Given the description of an element on the screen output the (x, y) to click on. 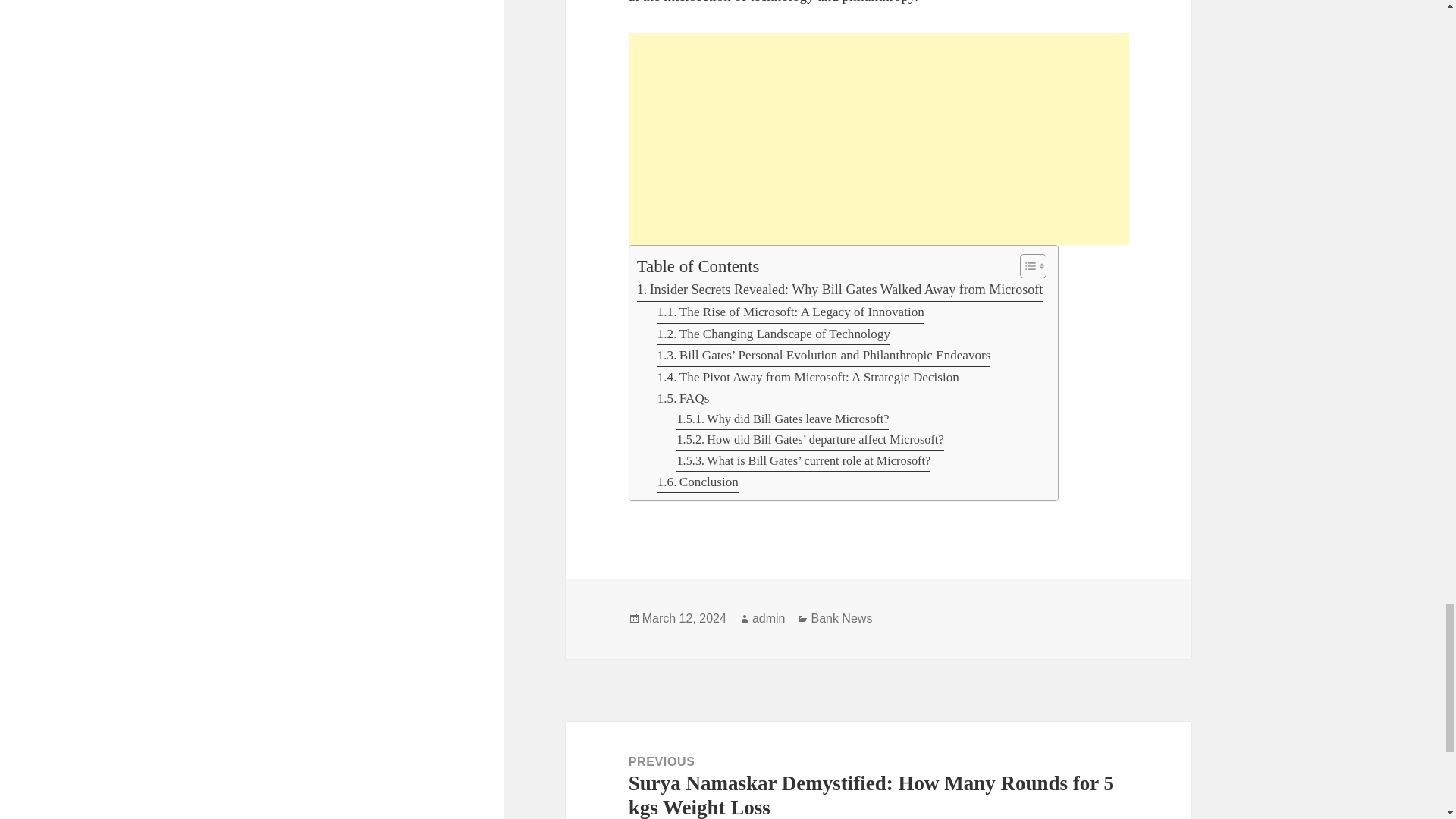
FAQs (684, 398)
admin (769, 618)
Conclusion (698, 482)
Why did Bill Gates leave Microsoft? (782, 419)
The Pivot Away from Microsoft: A Strategic Decision (808, 377)
March 12, 2024 (684, 618)
The Pivot Away from Microsoft: A Strategic Decision (808, 377)
